Given the description of an element on the screen output the (x, y) to click on. 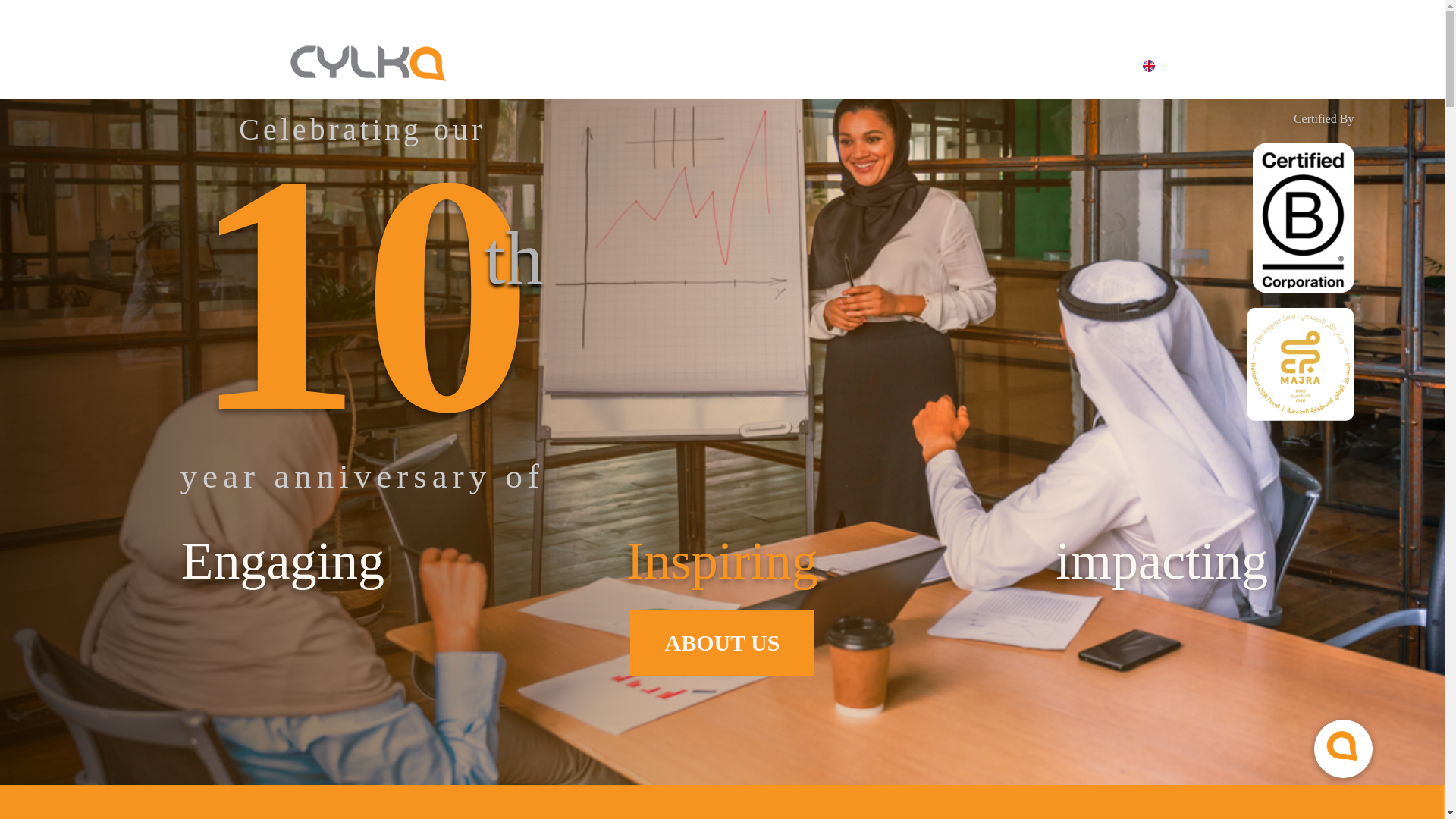
impact-sealgold 1 1 (1300, 363)
ENG (1128, 68)
ABOUT US (721, 642)
